Given the description of an element on the screen output the (x, y) to click on. 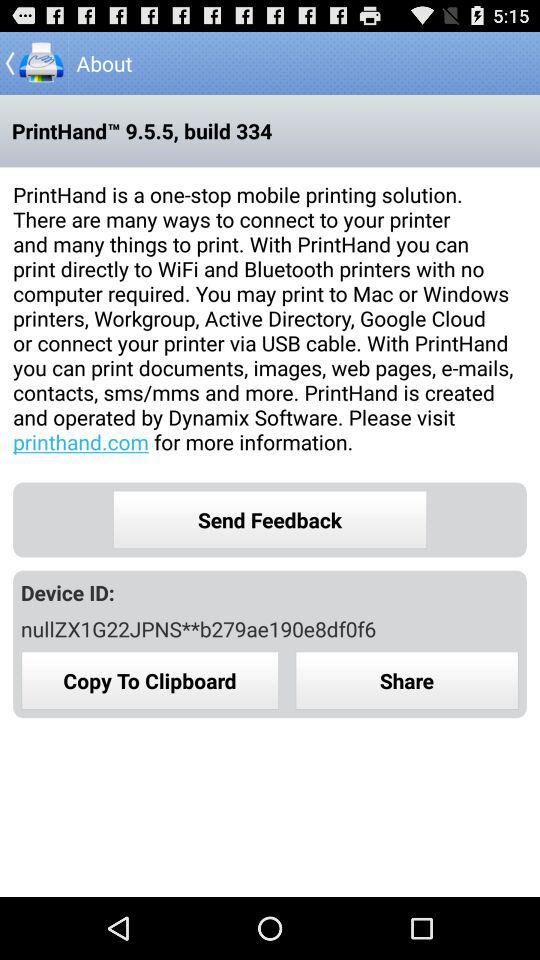
turn on the item above the send feedback (270, 317)
